Given the description of an element on the screen output the (x, y) to click on. 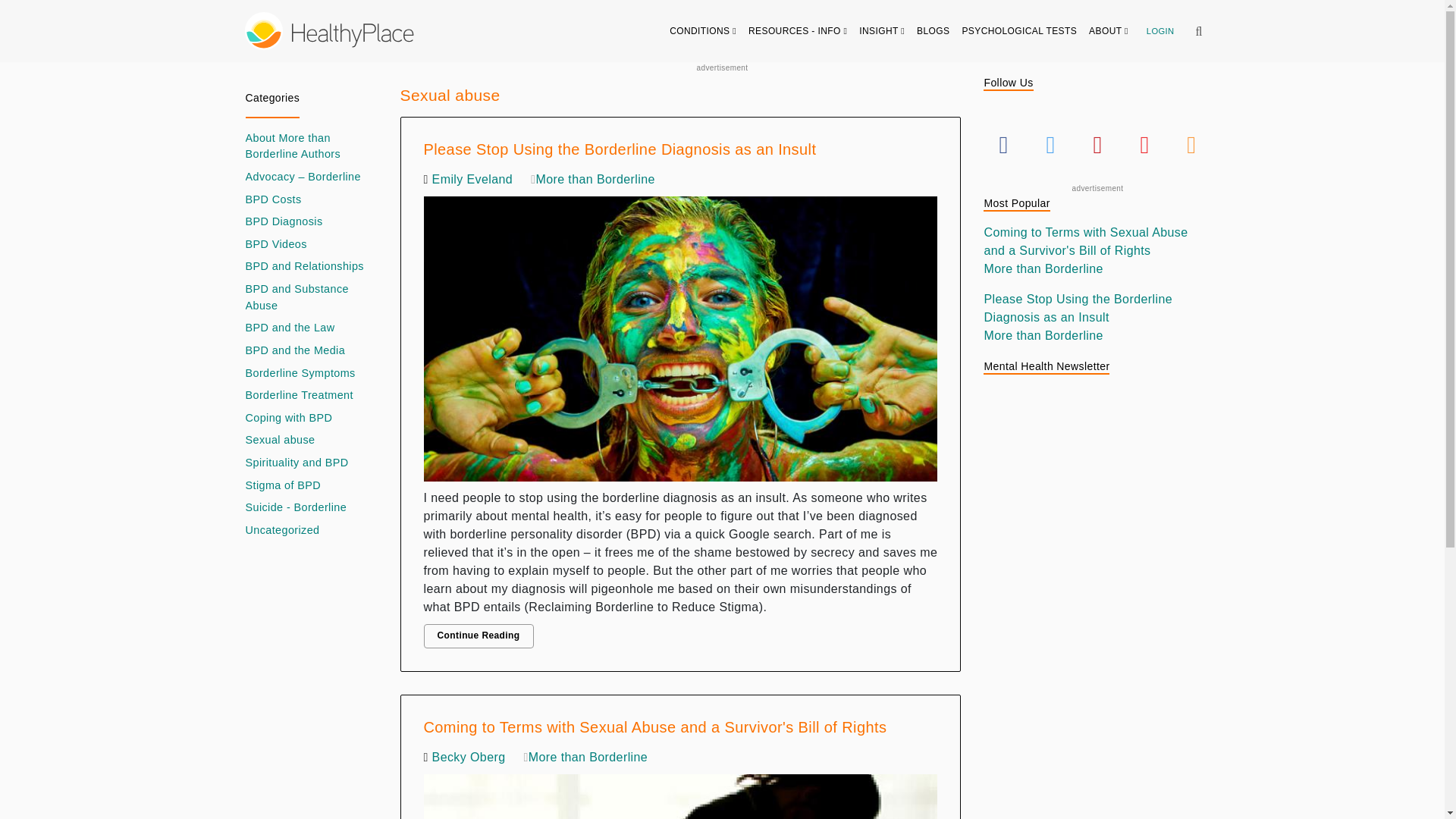
CONDITIONS (702, 31)
RESOURCES - INFO (797, 31)
INSIGHT (882, 31)
